Given the description of an element on the screen output the (x, y) to click on. 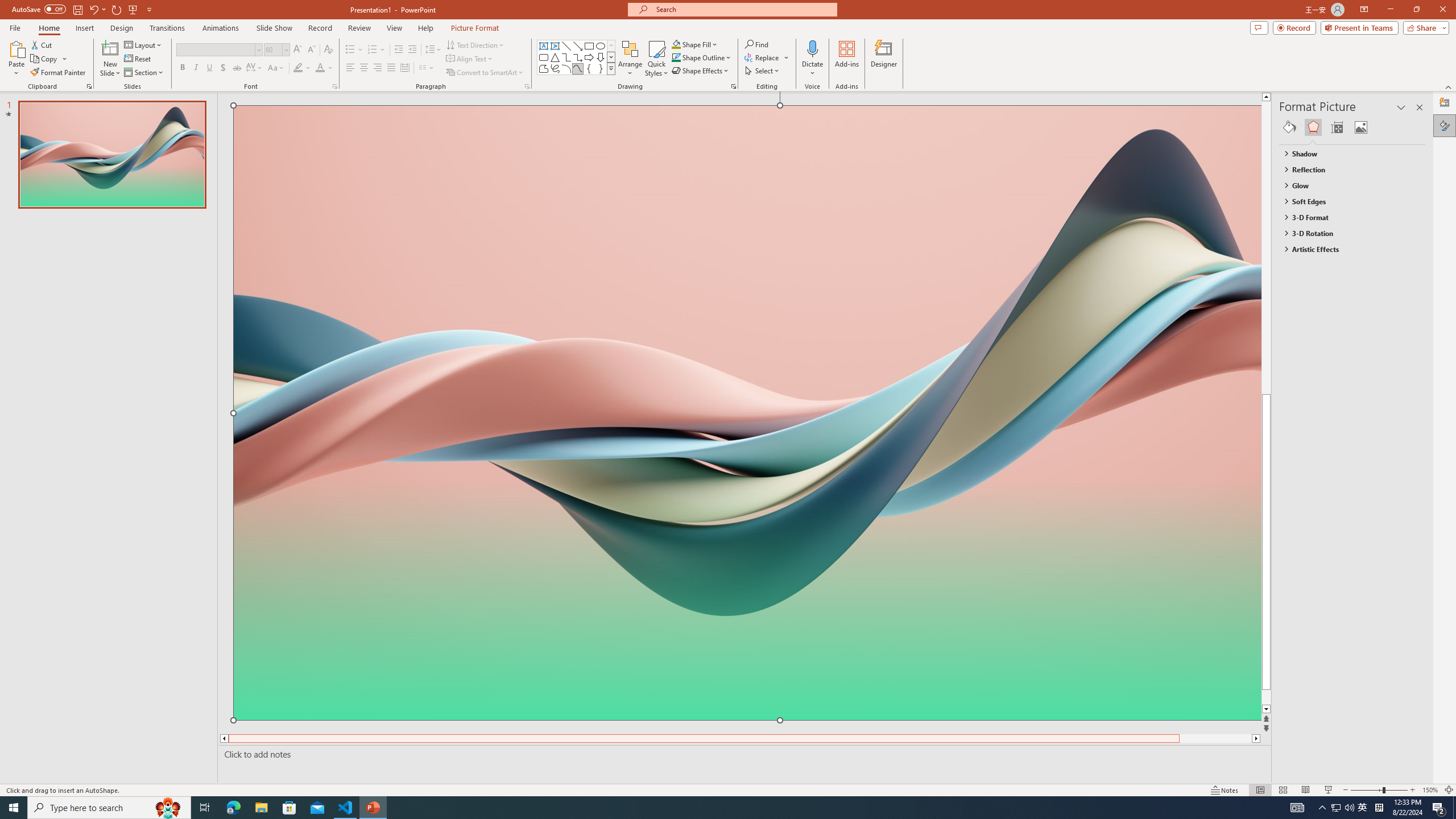
3-D Rotation (1347, 232)
